Given the description of an element on the screen output the (x, y) to click on. 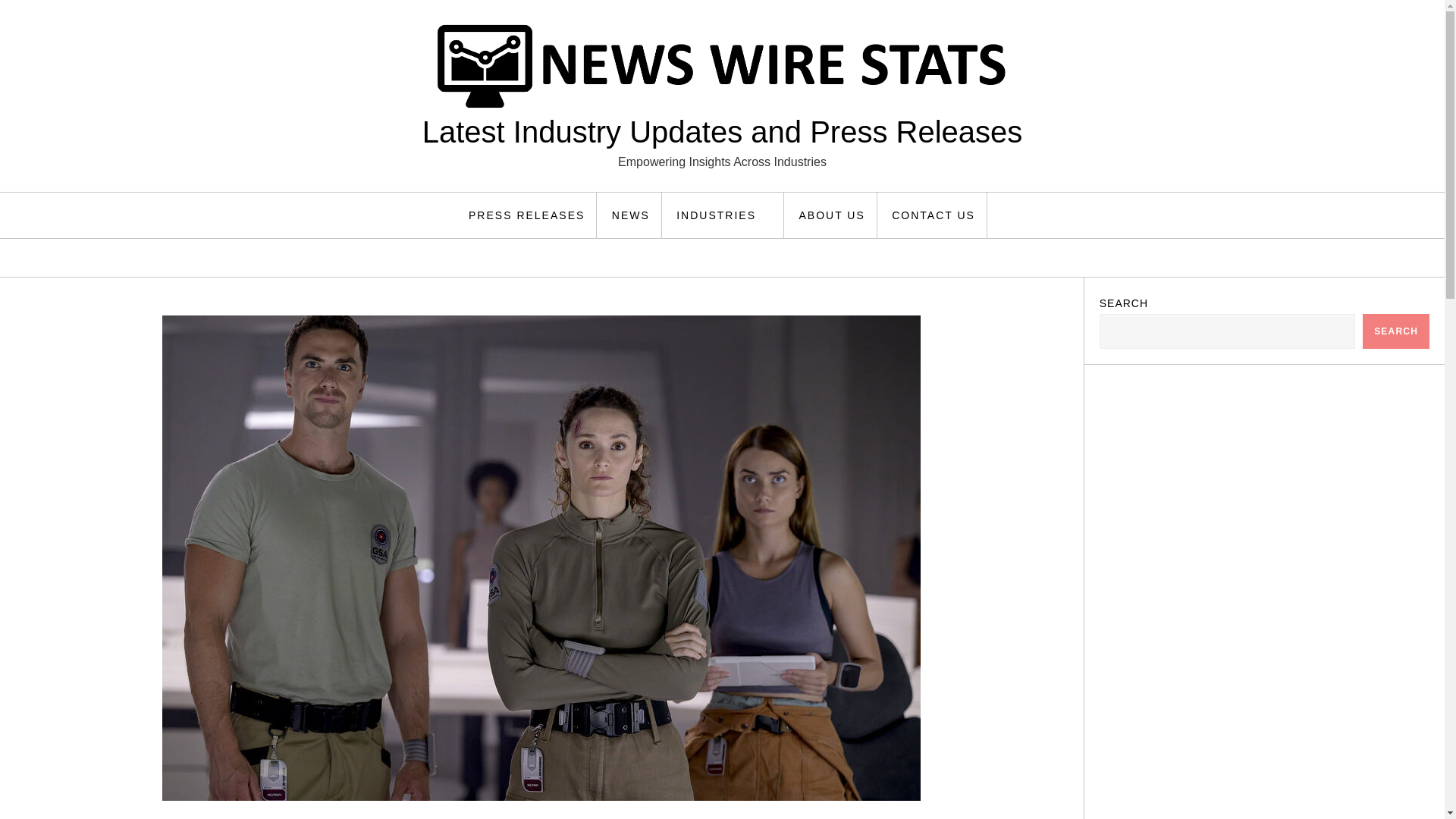
Latest Industry Updates and Press Releases (722, 131)
CONTACT US (933, 215)
INDUSTRIES (724, 215)
ABOUT US (831, 215)
SEARCH (1395, 330)
PRESS RELEASES (526, 215)
NEWS (630, 215)
